Given the description of an element on the screen output the (x, y) to click on. 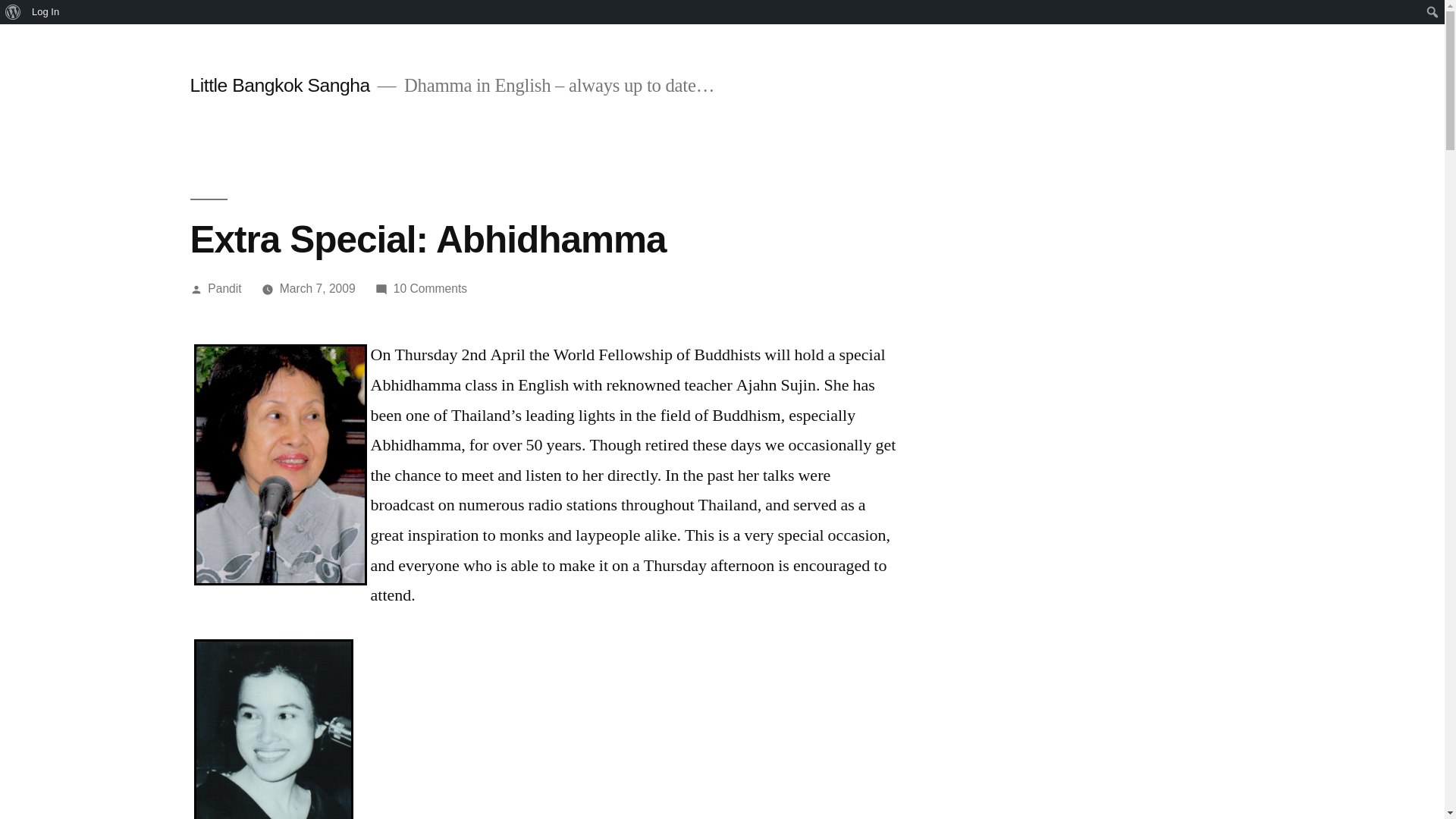
Log In (430, 287)
March 7, 2009 (45, 12)
Search (317, 287)
Pandit (15, 12)
Little Bangkok Sangha (224, 287)
